Given the description of an element on the screen output the (x, y) to click on. 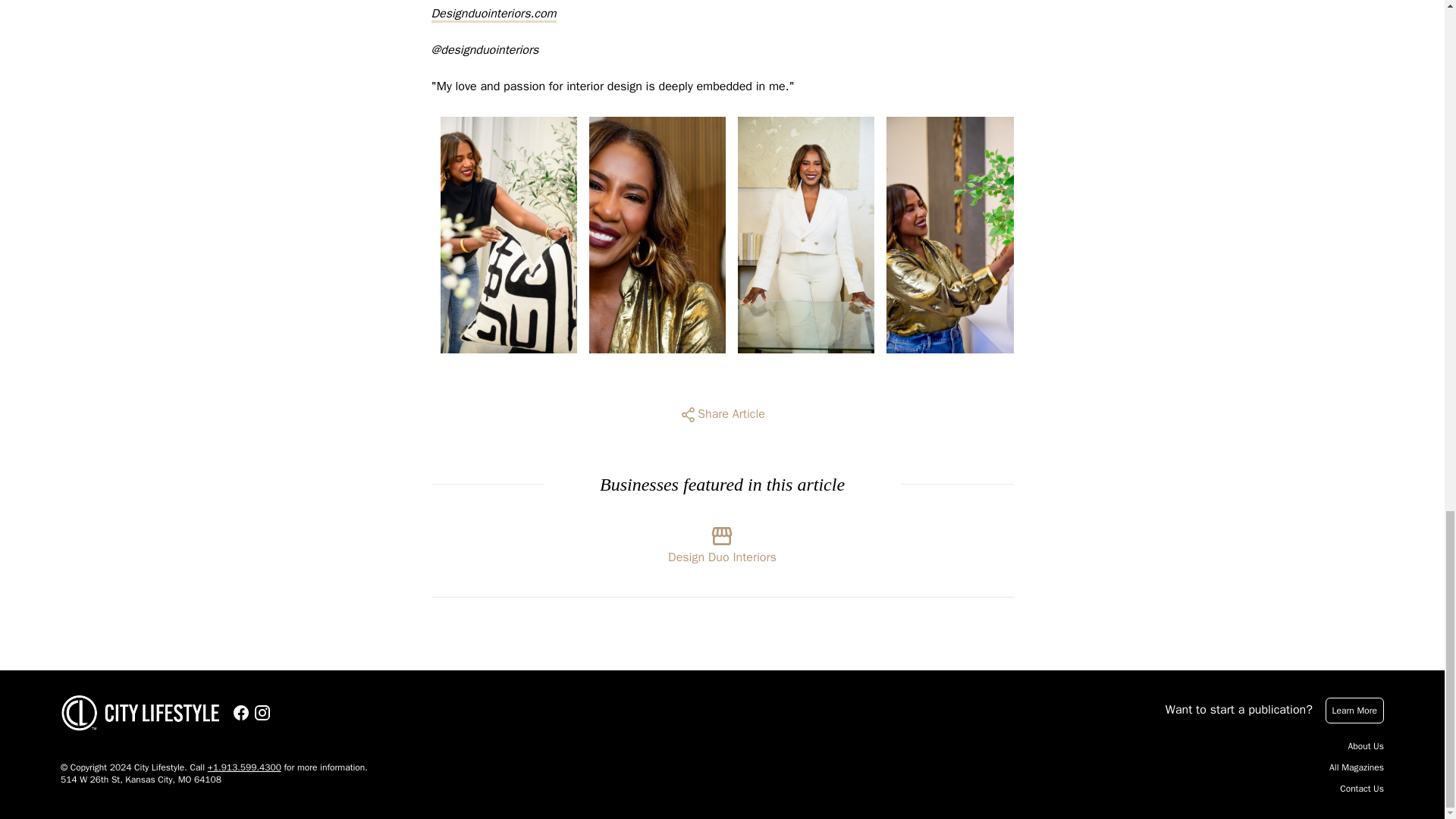
Designduointeriors.com (493, 13)
About Us (1366, 746)
All Magazines (1356, 767)
Share Article (722, 414)
Contact Us (1361, 788)
Design Duo Interiors (722, 540)
Learn More (1354, 710)
